Given the description of an element on the screen output the (x, y) to click on. 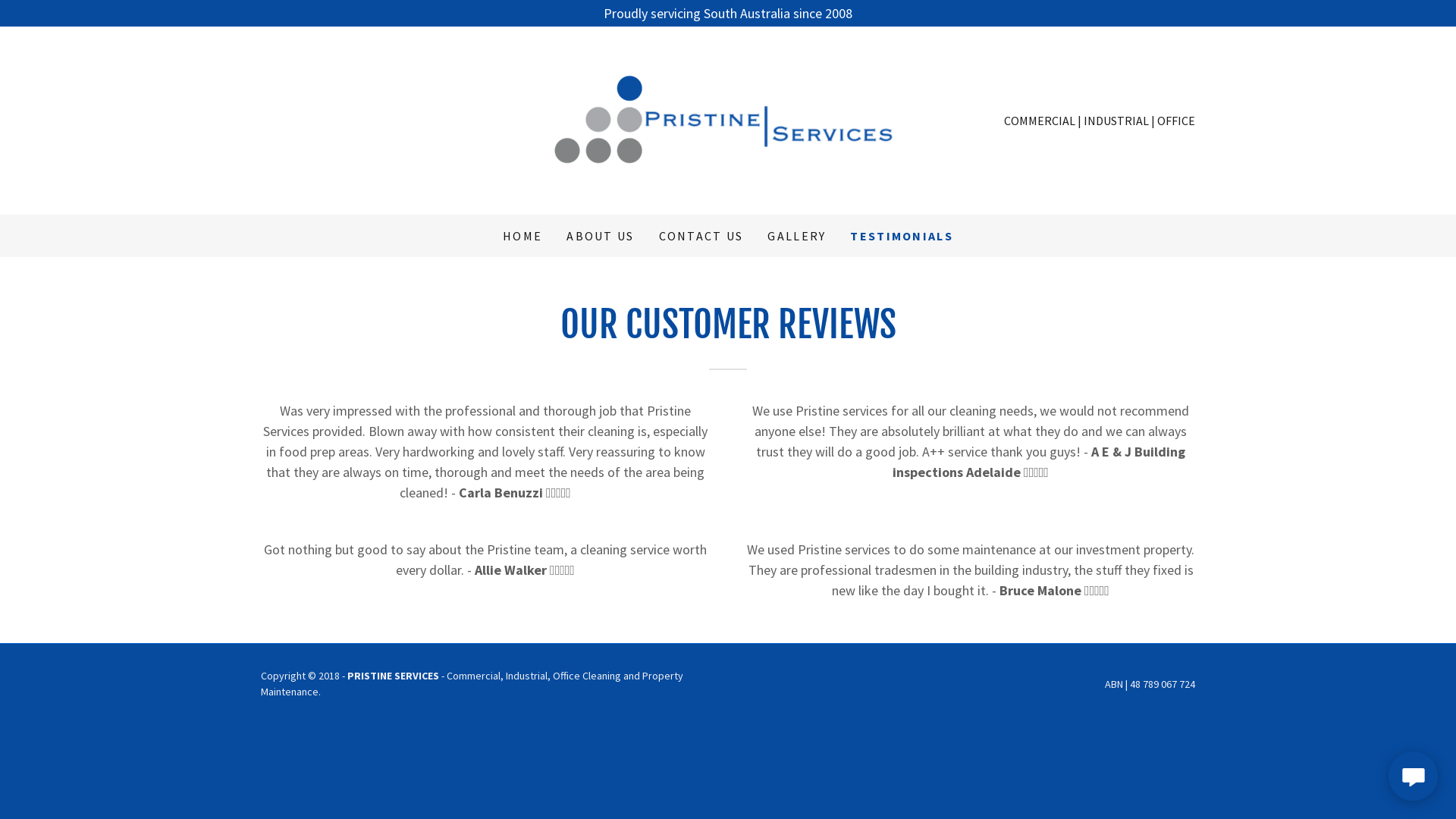
TESTIMONIALS Element type: text (901, 235)
CONTACT US Element type: text (701, 235)
GALLERY Element type: text (796, 235)
ABOUT US Element type: text (599, 235)
HOME Element type: text (522, 235)
